Given the description of an element on the screen output the (x, y) to click on. 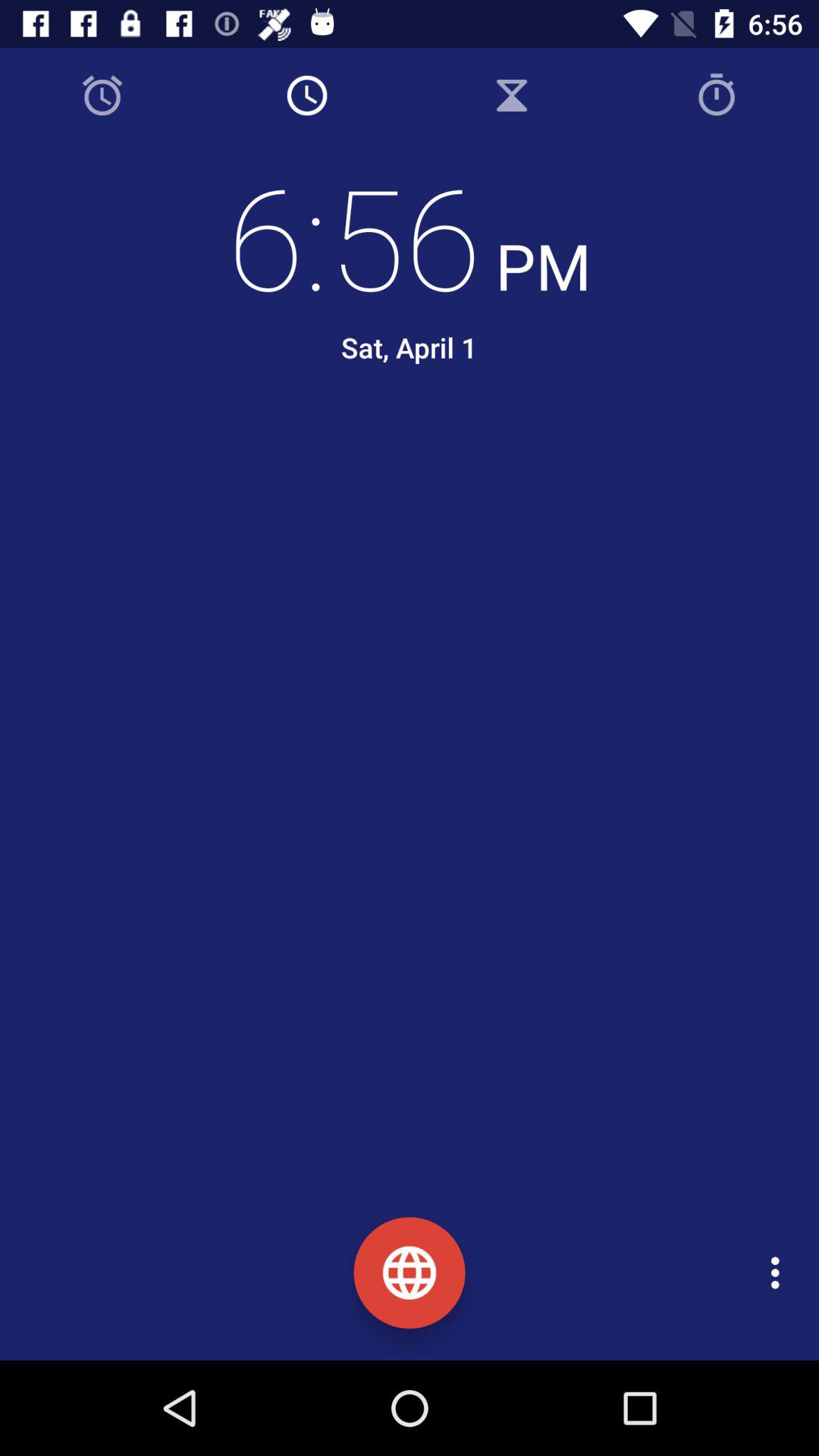
tap the sat, april 1 item (409, 347)
